Given the description of an element on the screen output the (x, y) to click on. 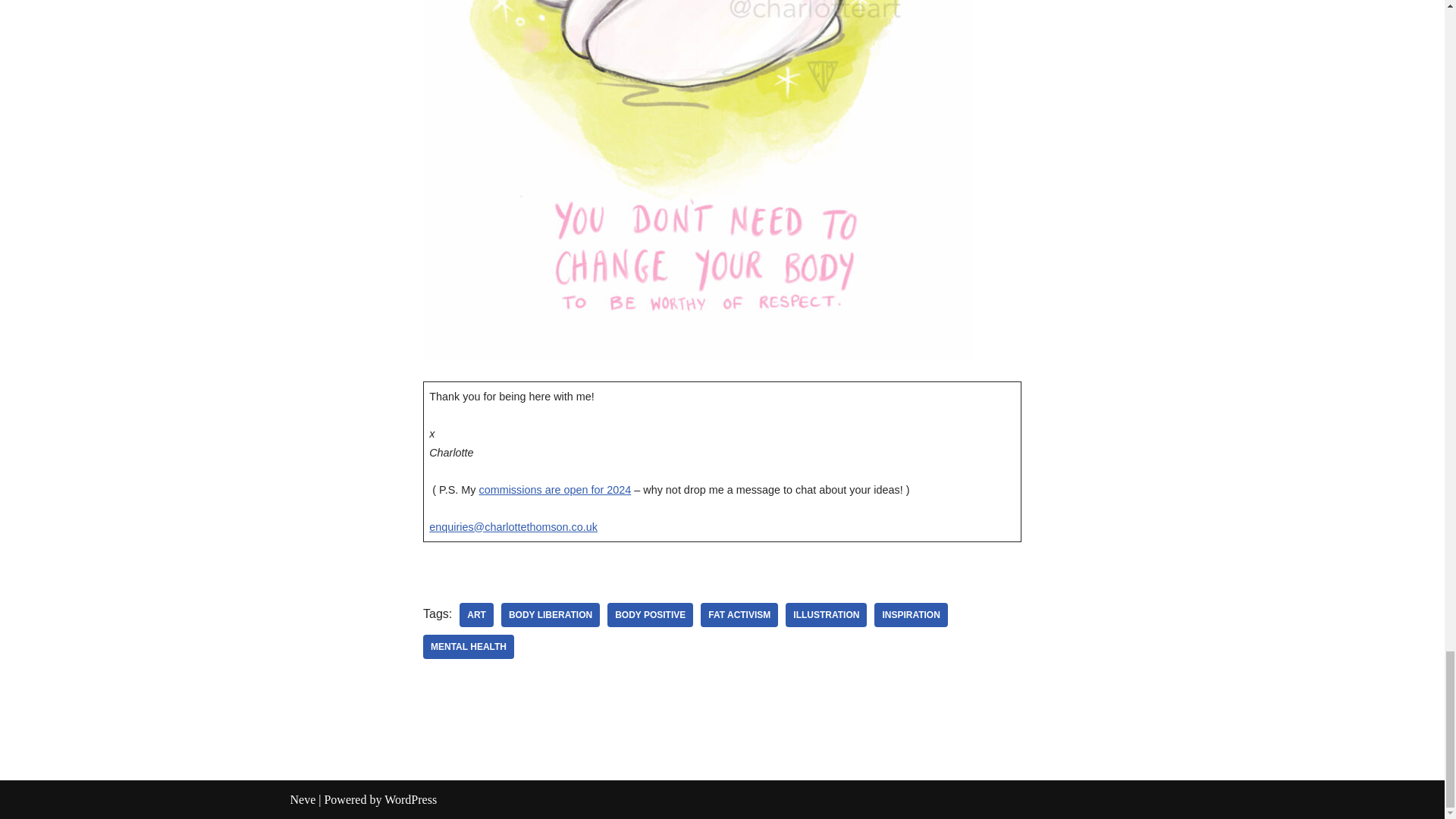
Body liberation (549, 614)
illustration (826, 614)
inspiration (911, 614)
art (476, 614)
mental health (468, 646)
ART (476, 614)
commissions are open for 2024 (555, 490)
BODY POSITIVE (650, 614)
body positive (650, 614)
FAT ACTIVISM (738, 614)
